Given the description of an element on the screen output the (x, y) to click on. 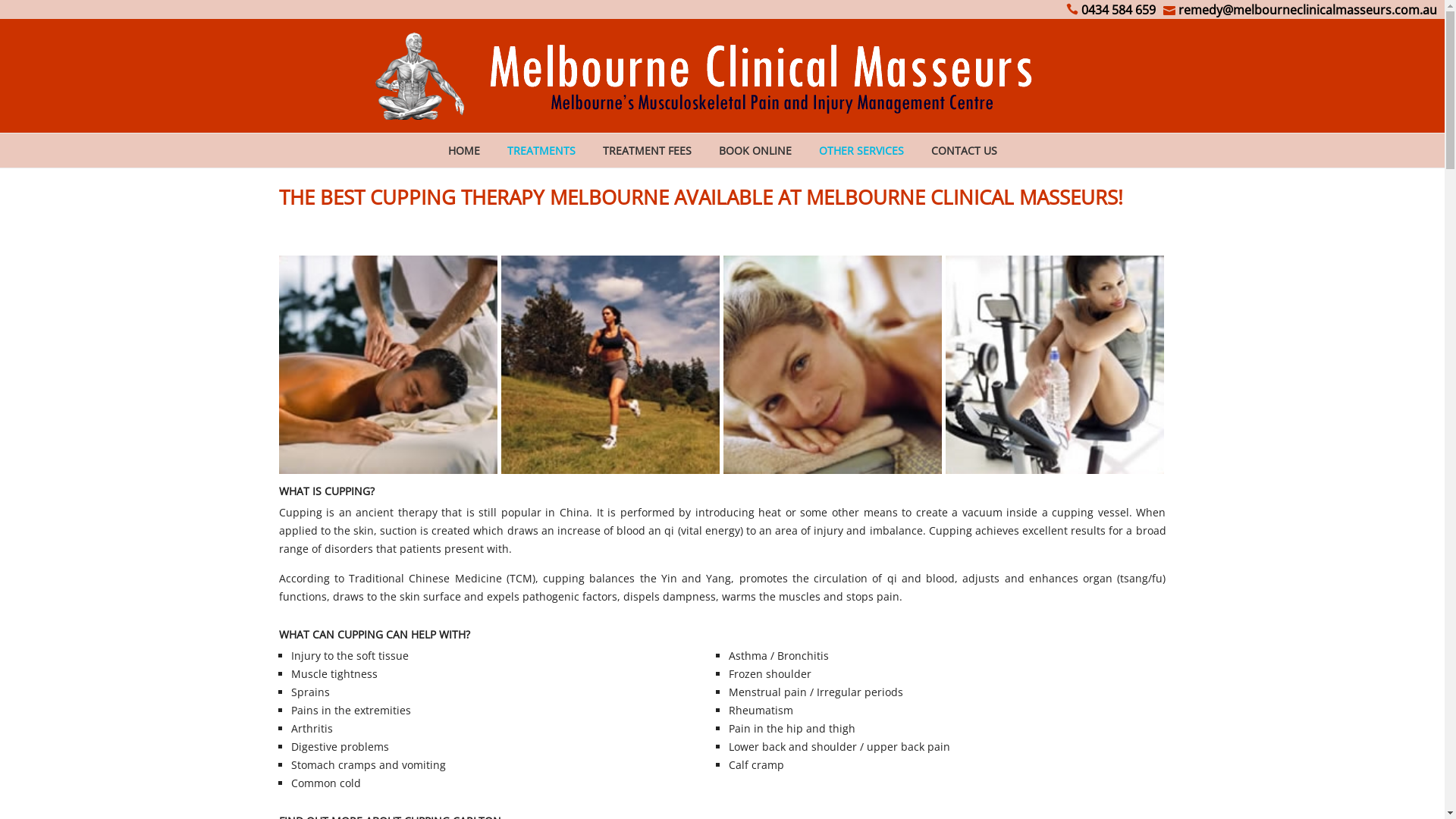
HOME Element type: text (463, 150)
Lymphatic Drainage Carlton - Melbourne Clinical Masseurs Element type: hover (832, 364)
CONTACT US Element type: text (964, 150)
BOOK ONLINE Element type: text (754, 150)
TREATMENT FEES Element type: text (645, 150)
Lymphatic Drainage Carlton - Melbourne Clinical Masseurs Element type: hover (388, 364)
Lymphatic Drainage Carlton - Melbourne Clinical Masseurs Element type: hover (610, 364)
OTHER SERVICES Element type: text (861, 150)
TREATMENTS Element type: text (540, 150)
0434 584 659 Element type: text (1110, 9)
Lymphatic Drainage Carlton - Melbourne Clinical Masseurs Element type: hover (1054, 364)
remedy@melbourneclinicalmasseurs.com.au Element type: text (1300, 9)
